Given the description of an element on the screen output the (x, y) to click on. 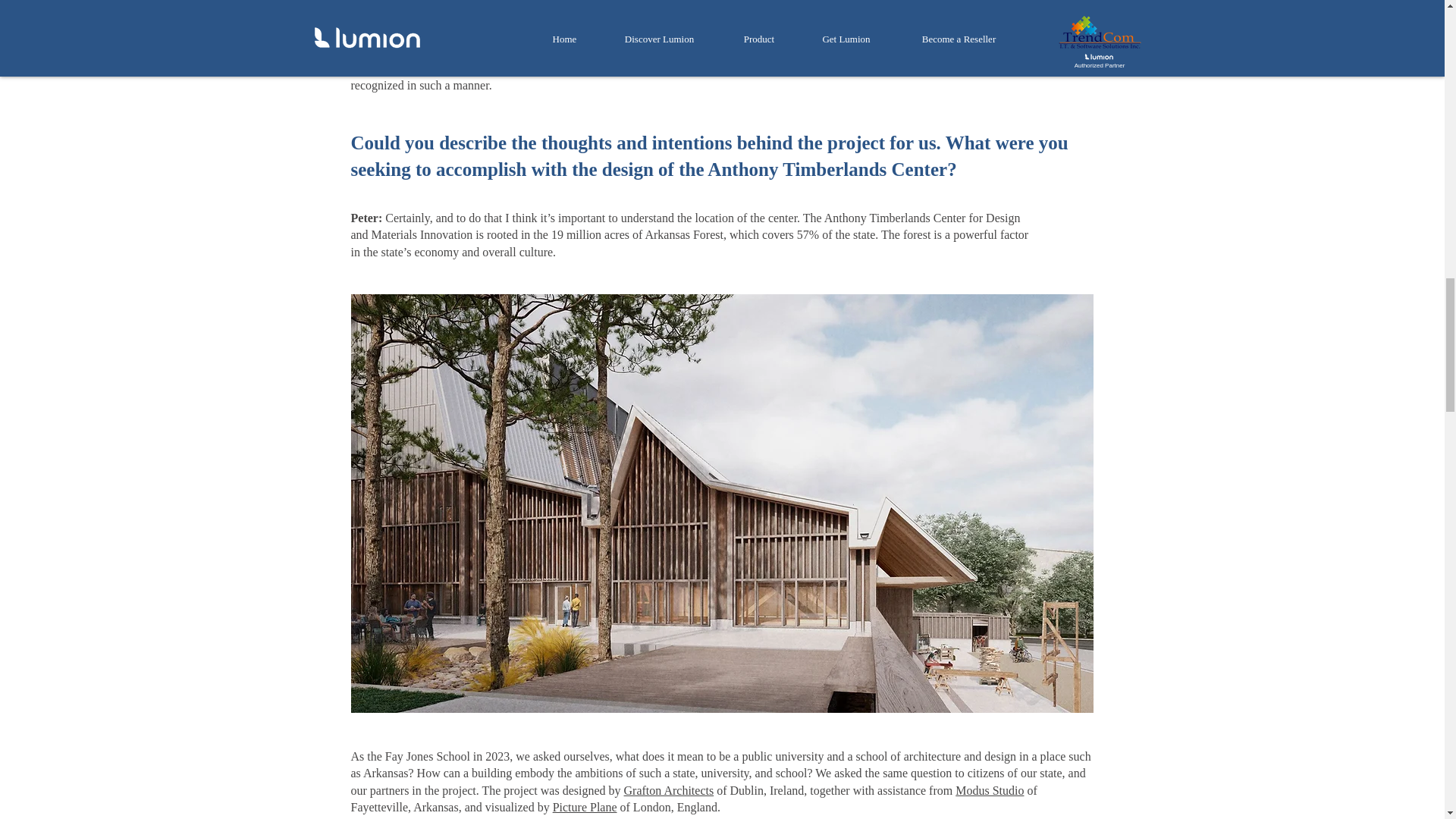
Picture Plane (585, 807)
Grafton Architects (669, 789)
Modus Studio (989, 789)
